Given the description of an element on the screen output the (x, y) to click on. 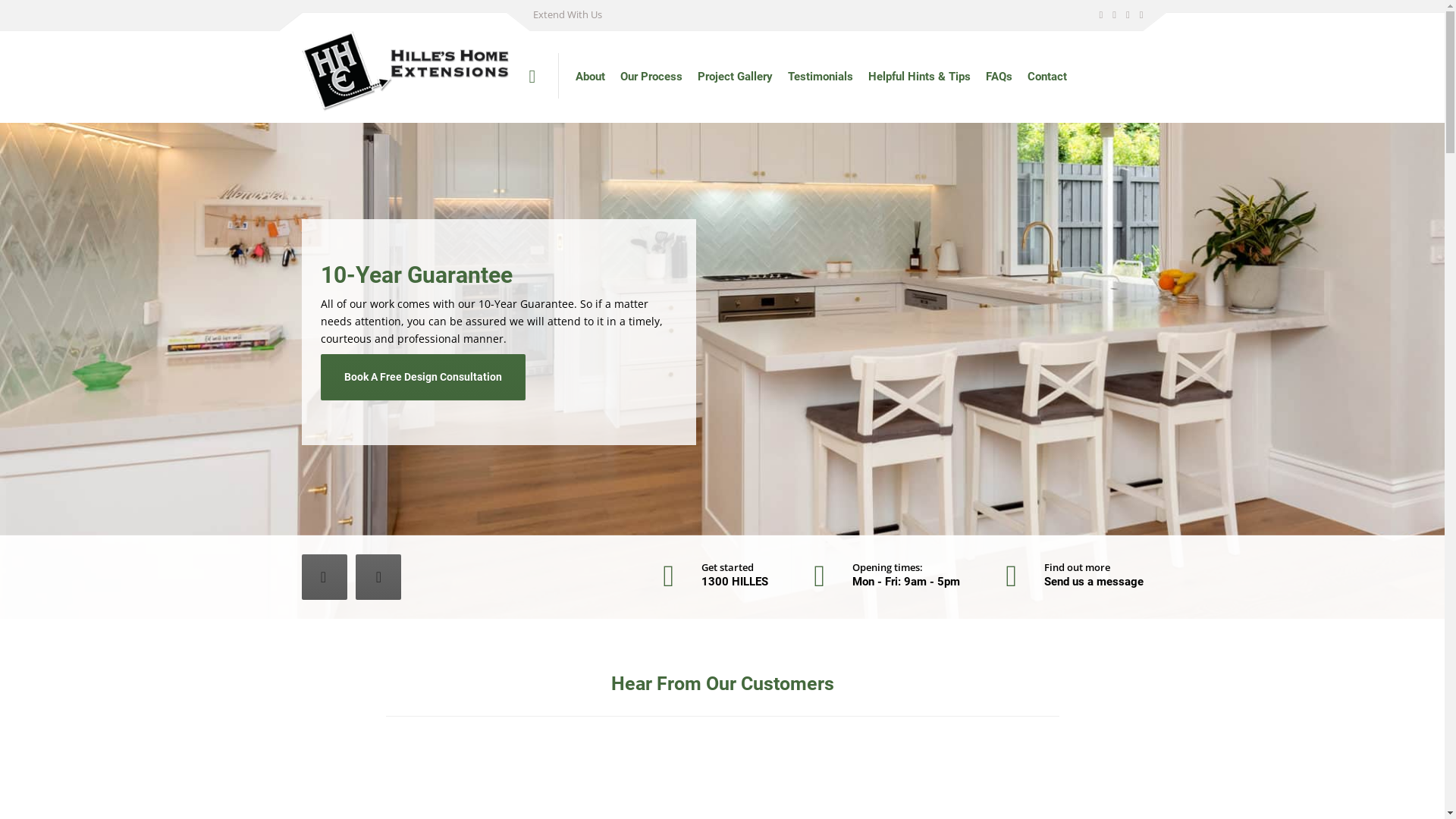
Book A Free Design Consultation Element type: text (703, 377)
Helpful Hints & Tips Element type: text (919, 76)
Get started
1300 HILLES Element type: text (714, 575)
Project Gallery Element type: text (735, 76)
Testimonials Element type: text (820, 76)
About Element type: text (589, 76)
Find out more
Send us a message Element type: text (1073, 575)
FAQs Element type: text (998, 76)
Our Process Element type: text (651, 76)
Contact Element type: text (1046, 76)
